Given the description of an element on the screen output the (x, y) to click on. 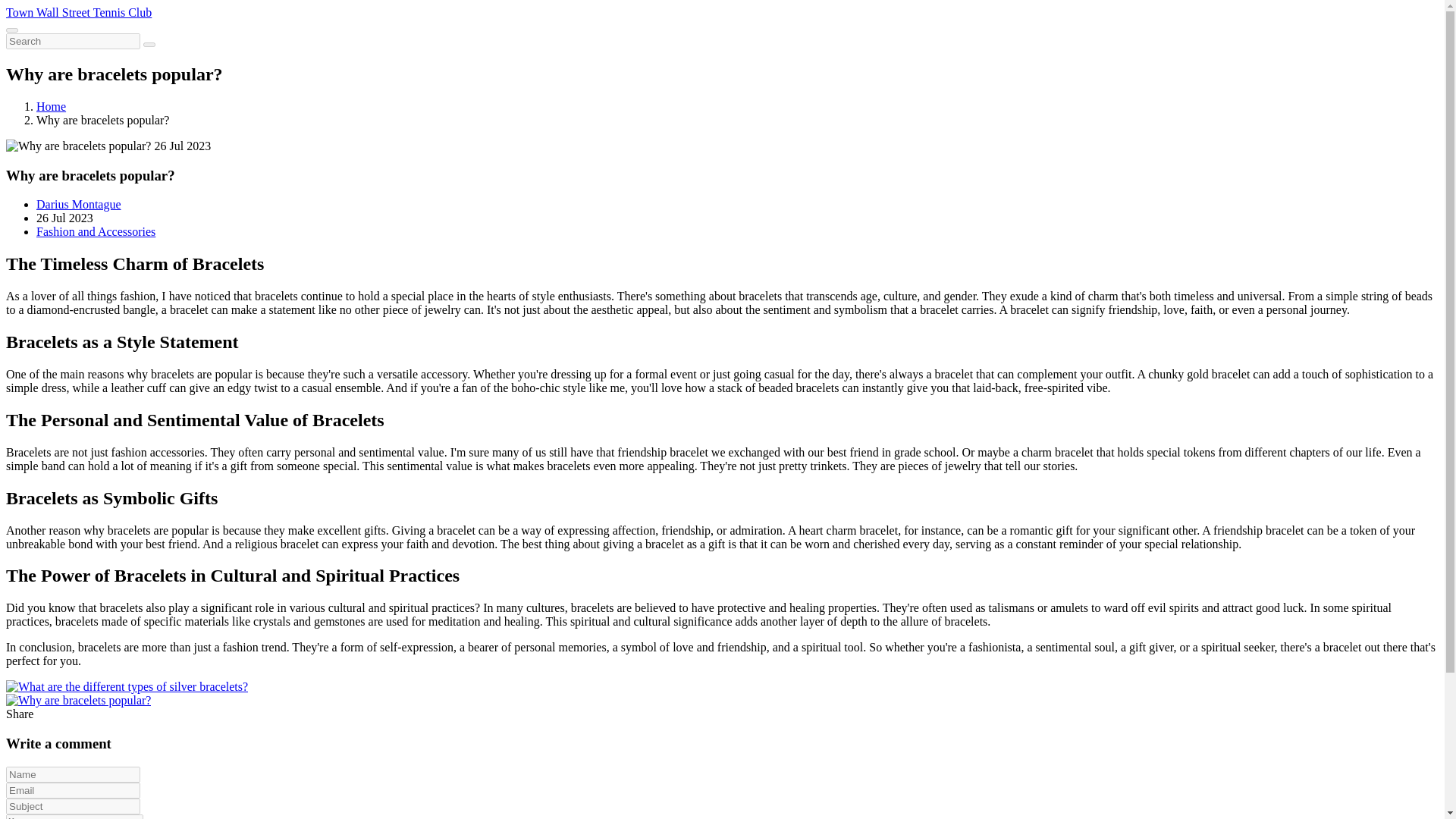
Home (50, 106)
Town Wall Street Tennis Club (78, 11)
Darius Montague (78, 204)
Fashion and Accessories (95, 231)
